Given the description of an element on the screen output the (x, y) to click on. 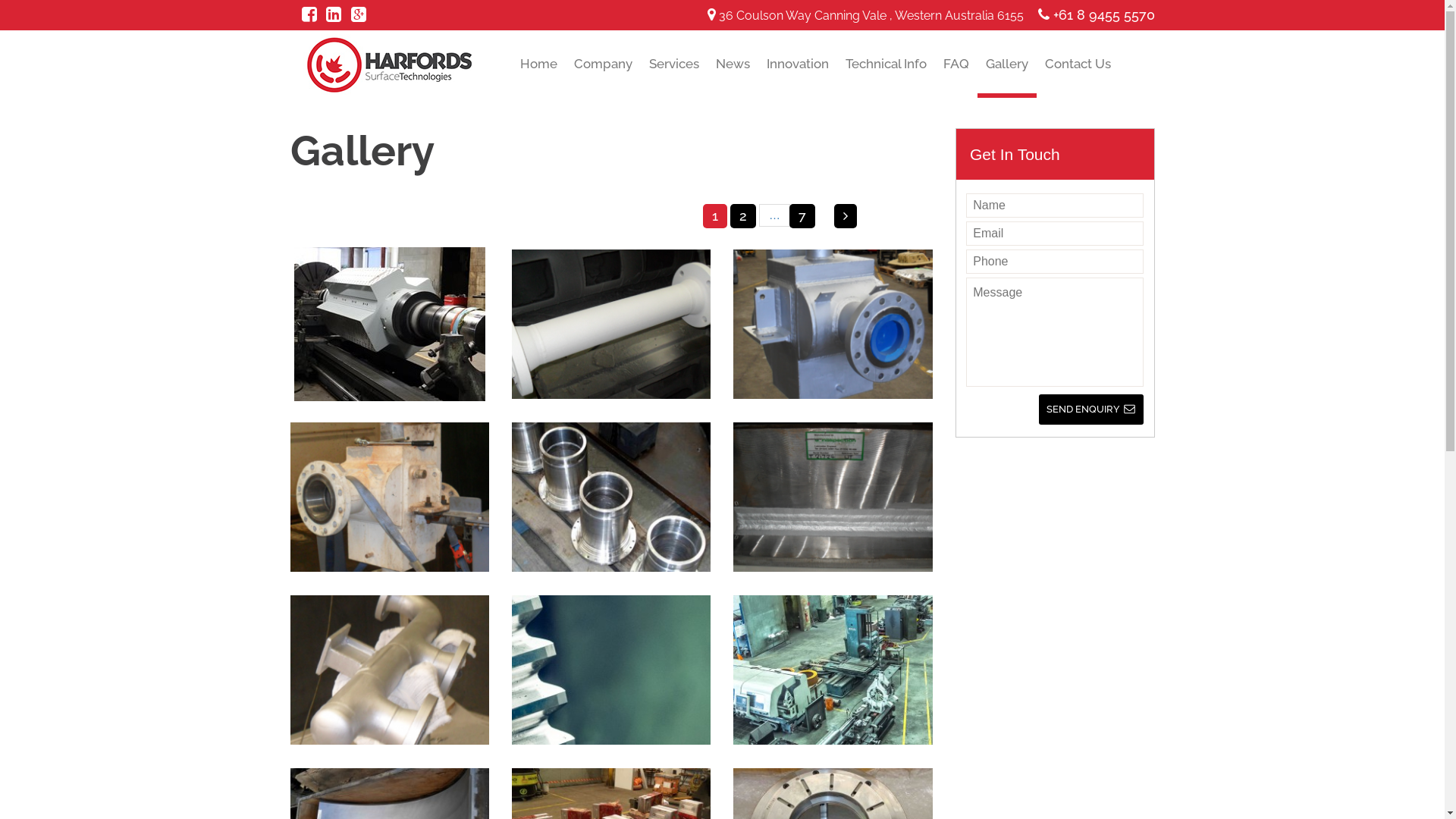
7 Element type: text (802, 215)
Innovation Element type: text (797, 76)
Corrosion Protection Element type: hover (388, 496)
Company Element type: text (603, 76)
Home Element type: text (538, 76)
Gallery Element type: text (1006, 76)
Heat Exchanger Element type: hover (832, 323)
News Element type: text (732, 76)
Send Enquiry Element type: text (1090, 409)
36 Coulson Way Canning Vale , Western Australia 6155 Element type: text (865, 15)
Corrosion Protection Element type: hover (610, 323)
FAQ Element type: text (956, 76)
Services Element type: text (674, 76)
Copper Stainless Element type: hover (389, 324)
2 Element type: text (743, 215)
Contact Us Element type: text (1077, 76)
+61 8 9455 5570 Element type: text (1095, 14)
Technical Info Element type: text (885, 76)
